Given the description of an element on the screen output the (x, y) to click on. 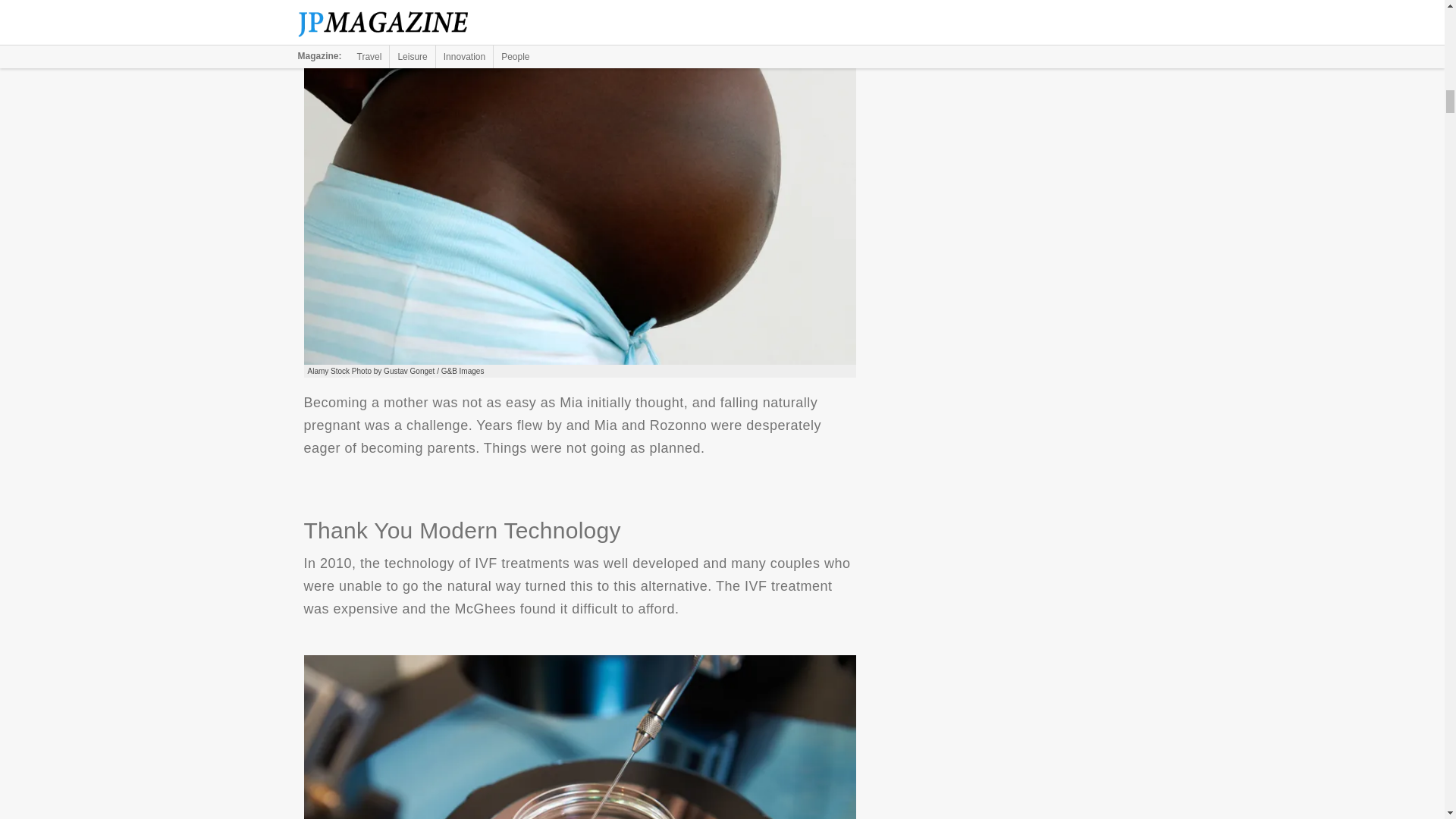
Thank You Modern Technology (579, 737)
